Given the description of an element on the screen output the (x, y) to click on. 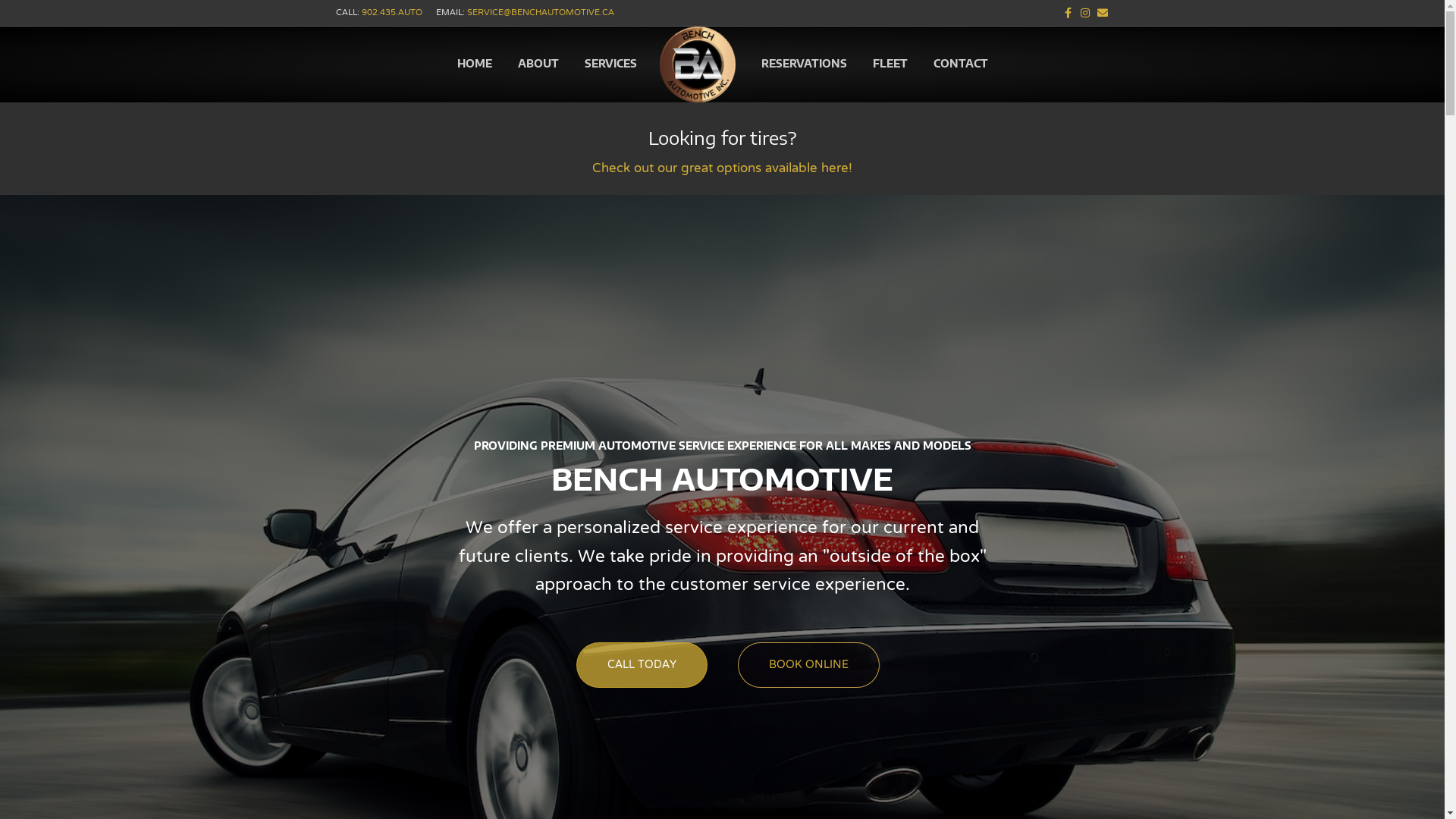
SERVICES Element type: text (610, 63)
Looking for tires? Element type: text (722, 136)
HOME Element type: text (474, 63)
FACEBOOK Element type: text (1061, 12)
ABOUT Element type: text (538, 63)
RESERVATIONS Element type: text (803, 63)
SERVICE@BENCHAUTOMOTIVE.CA Element type: text (540, 12)
EMAIL Element type: text (1097, 12)
902.435.AUTO Element type: text (390, 12)
CALL TODAY Element type: text (641, 664)
CONTACT Element type: text (960, 63)
BOOK ONLINE Element type: text (807, 664)
Check out our great options available here! Element type: text (722, 168)
INSTAGRAM Element type: text (1079, 12)
FLEET Element type: text (890, 63)
